Given the description of an element on the screen output the (x, y) to click on. 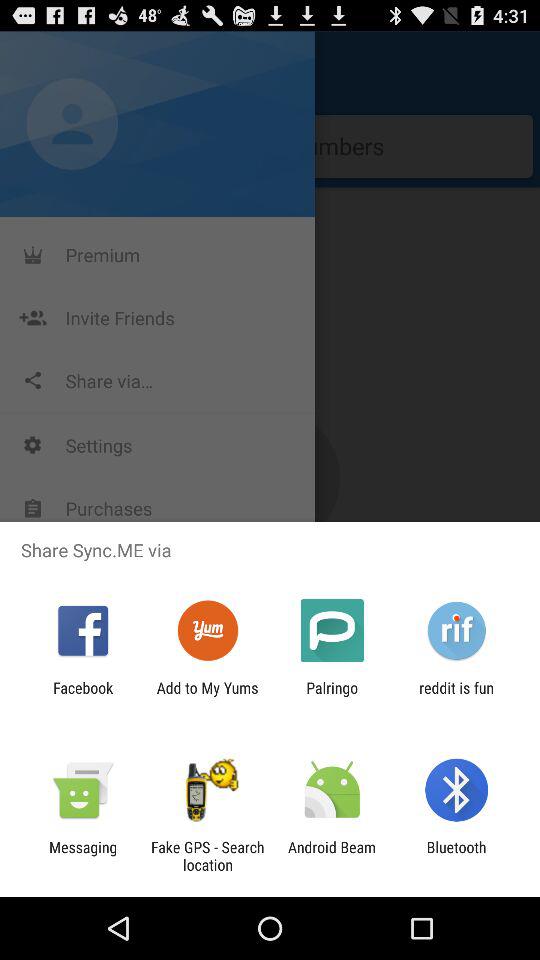
click item next to the reddit is fun (332, 696)
